Given the description of an element on the screen output the (x, y) to click on. 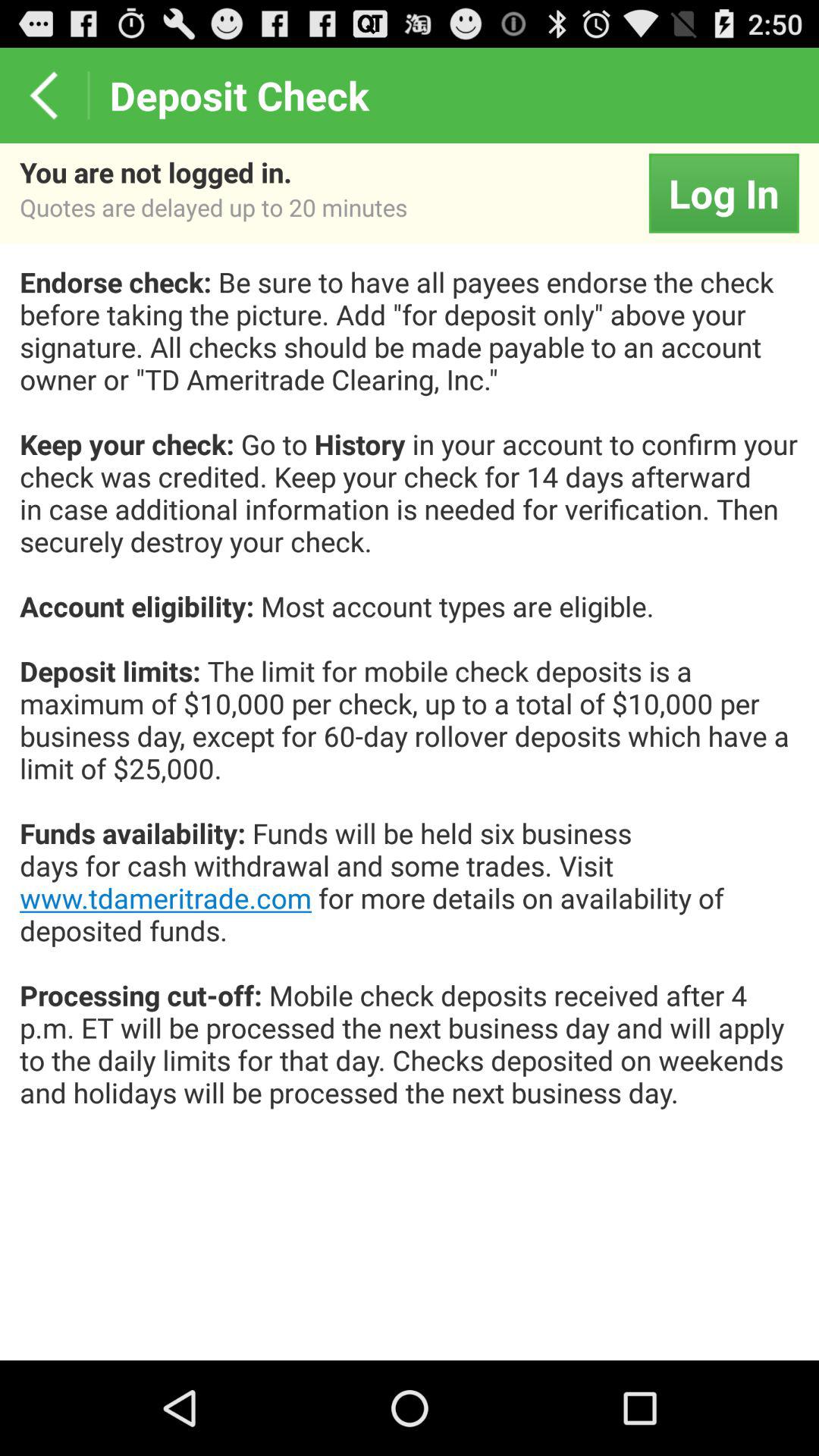
click the app next to you are not icon (723, 193)
